Given the description of an element on the screen output the (x, y) to click on. 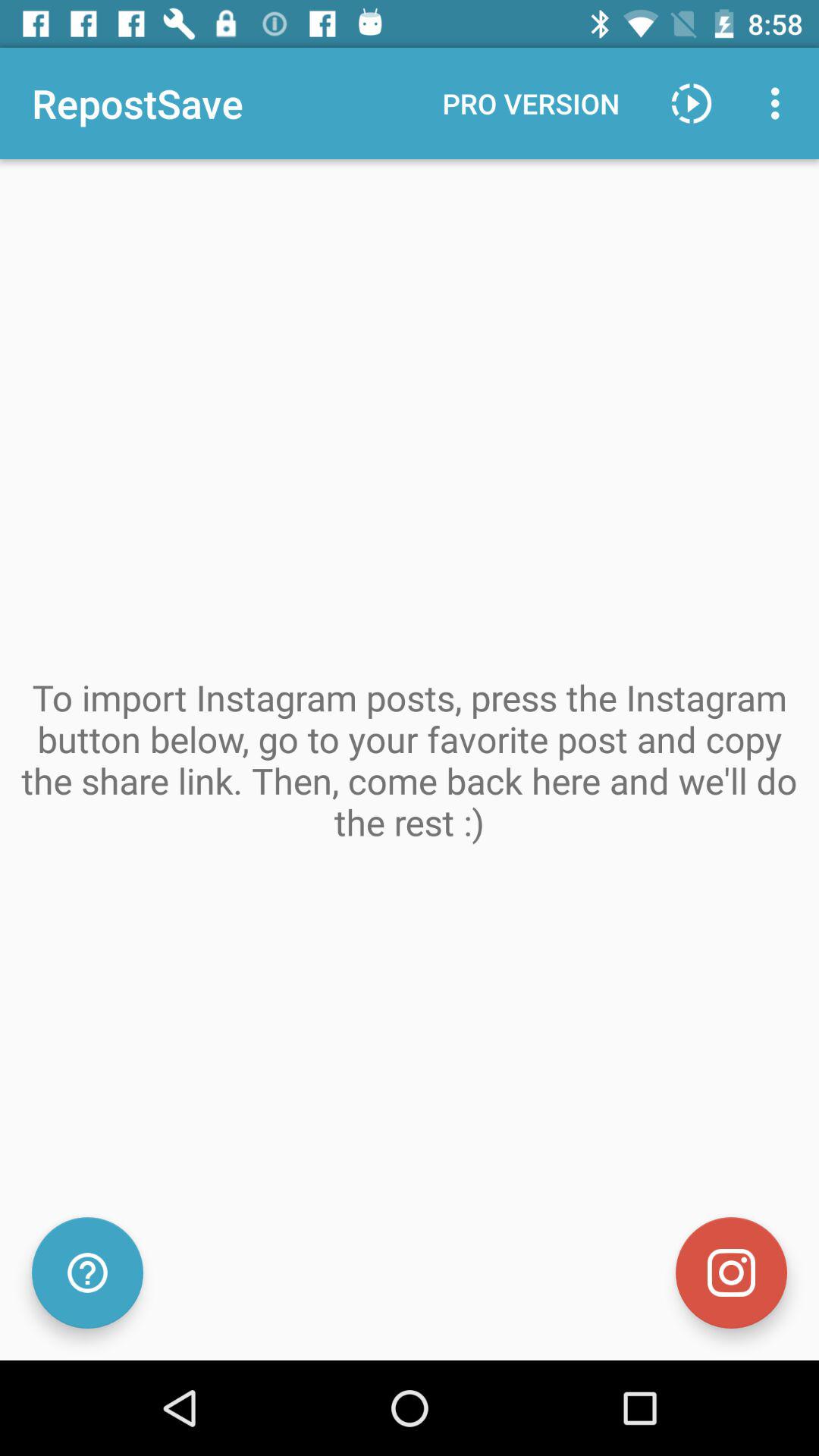
import instagram post (731, 1272)
